Given the description of an element on the screen output the (x, y) to click on. 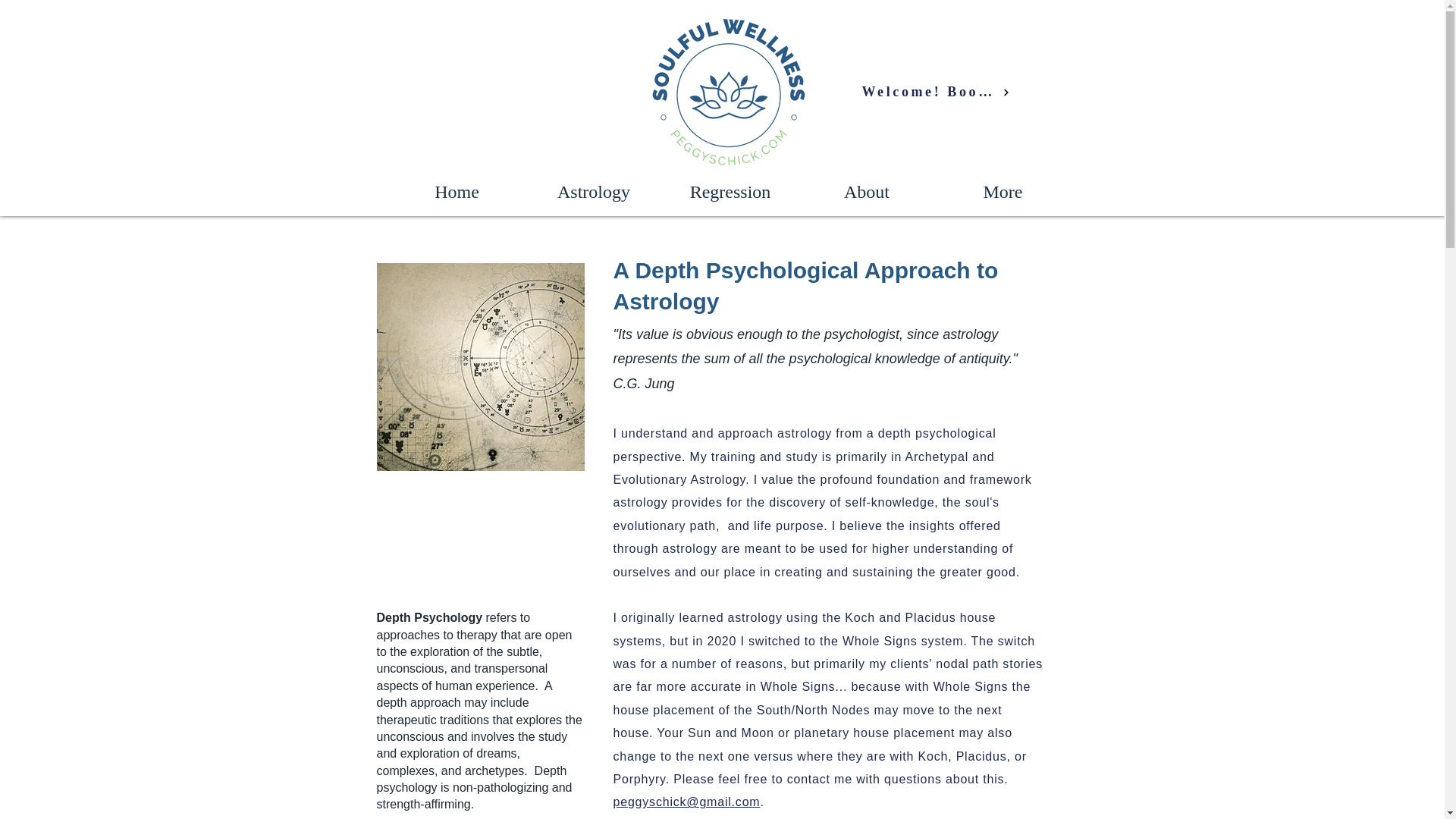
About (865, 191)
More (1002, 191)
Regression (729, 191)
Welcome! Book Now (935, 92)
Home (456, 191)
